Given the description of an element on the screen output the (x, y) to click on. 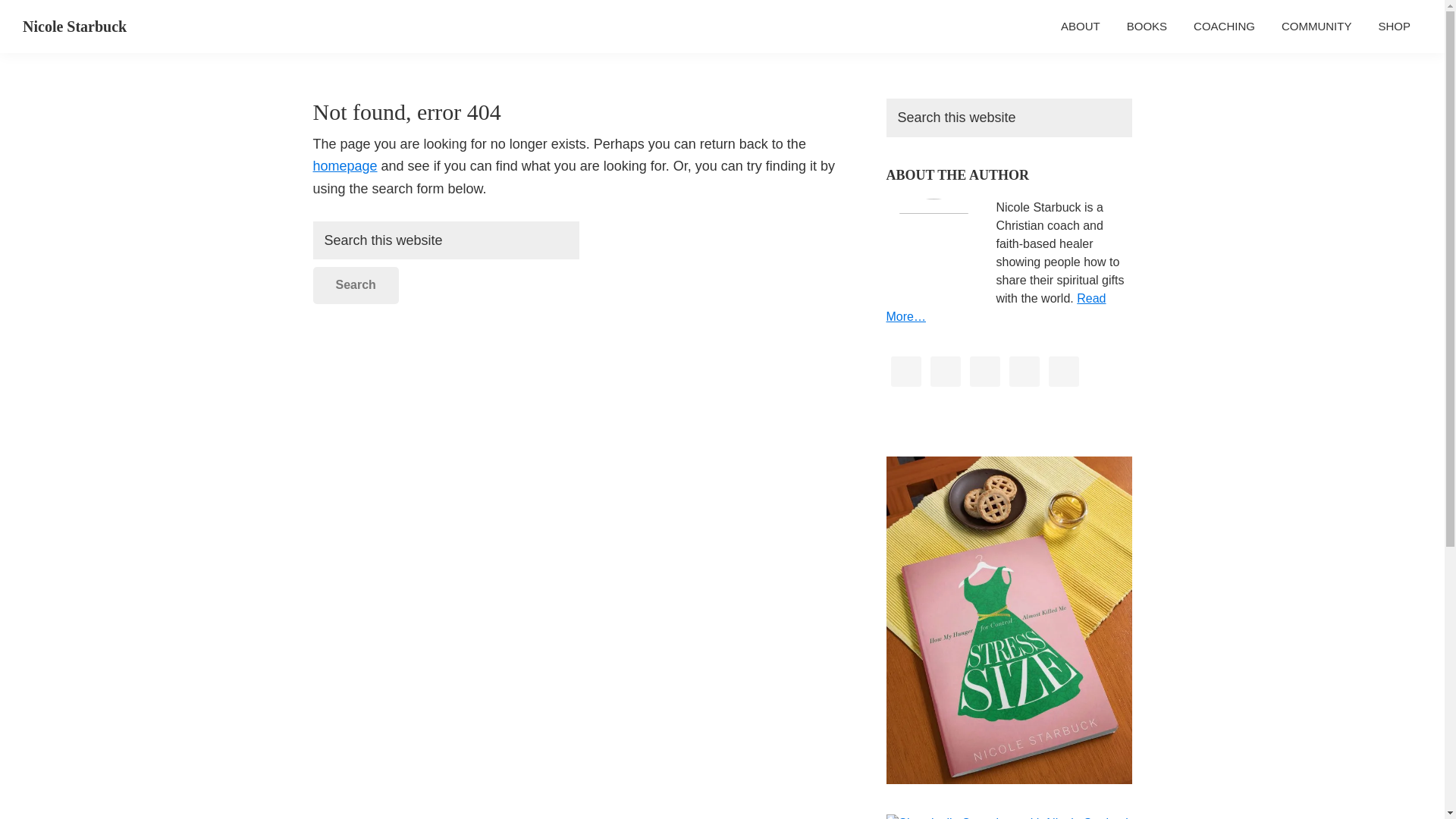
COMMUNITY (1315, 25)
ABOUT (1080, 25)
Search (355, 284)
homepage (345, 165)
COACHING (1224, 25)
SHOP (1394, 25)
Search (355, 284)
